Given the description of an element on the screen output the (x, y) to click on. 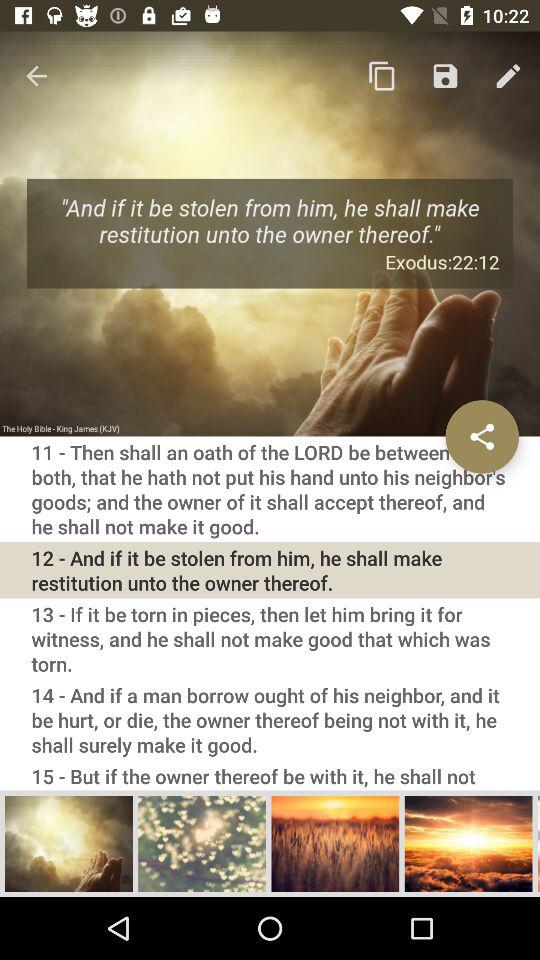
select the 15 but if item (270, 775)
